Given the description of an element on the screen output the (x, y) to click on. 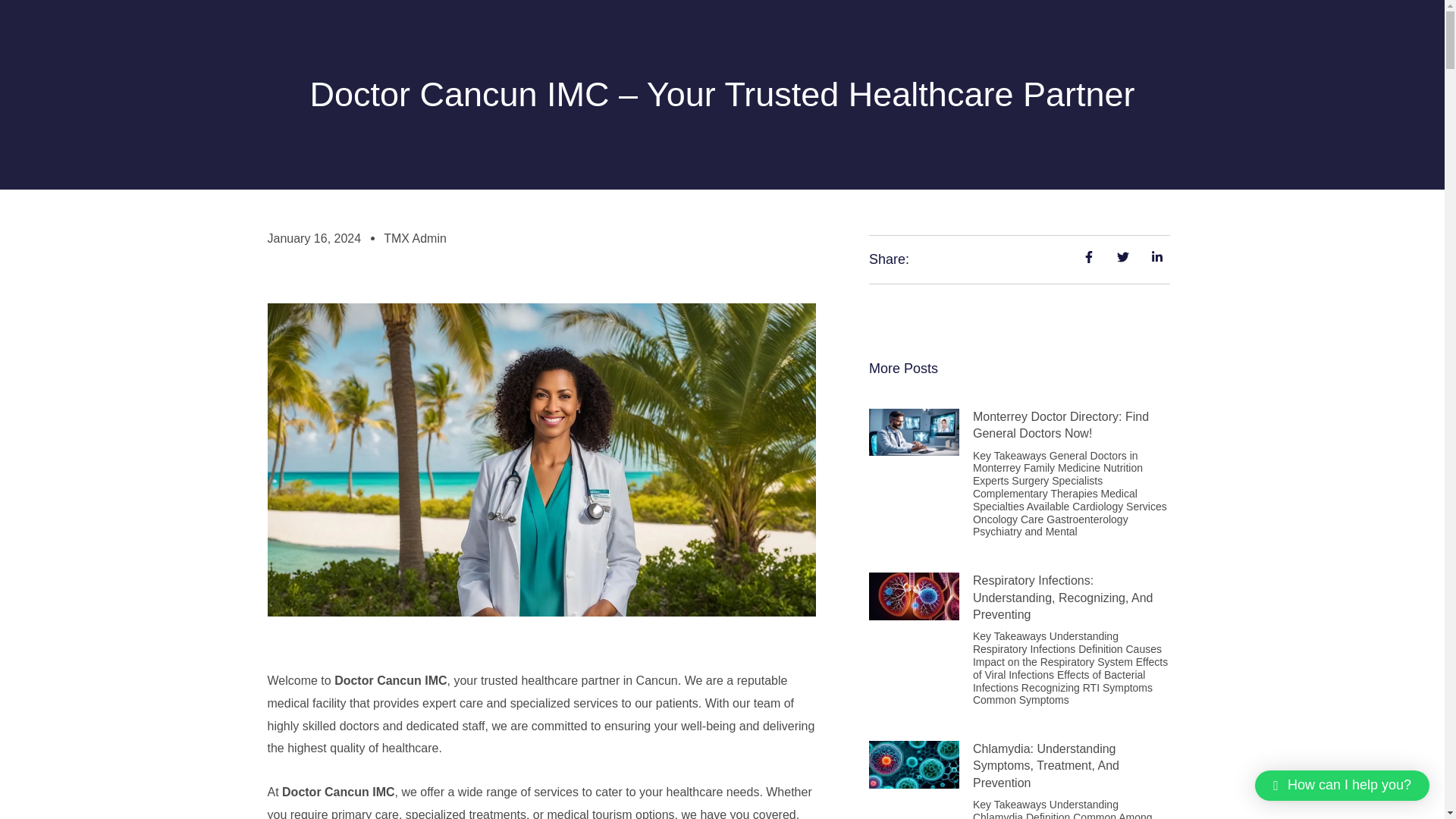
January 16, 2024 (313, 238)
Monterrey Doctor Directory: Find General Doctors Now! (1060, 424)
Chlamydia: Understanding Symptoms, Treatment, And Prevention (1045, 765)
How can I help you? (1342, 785)
TMX Admin (415, 238)
